Given the description of an element on the screen output the (x, y) to click on. 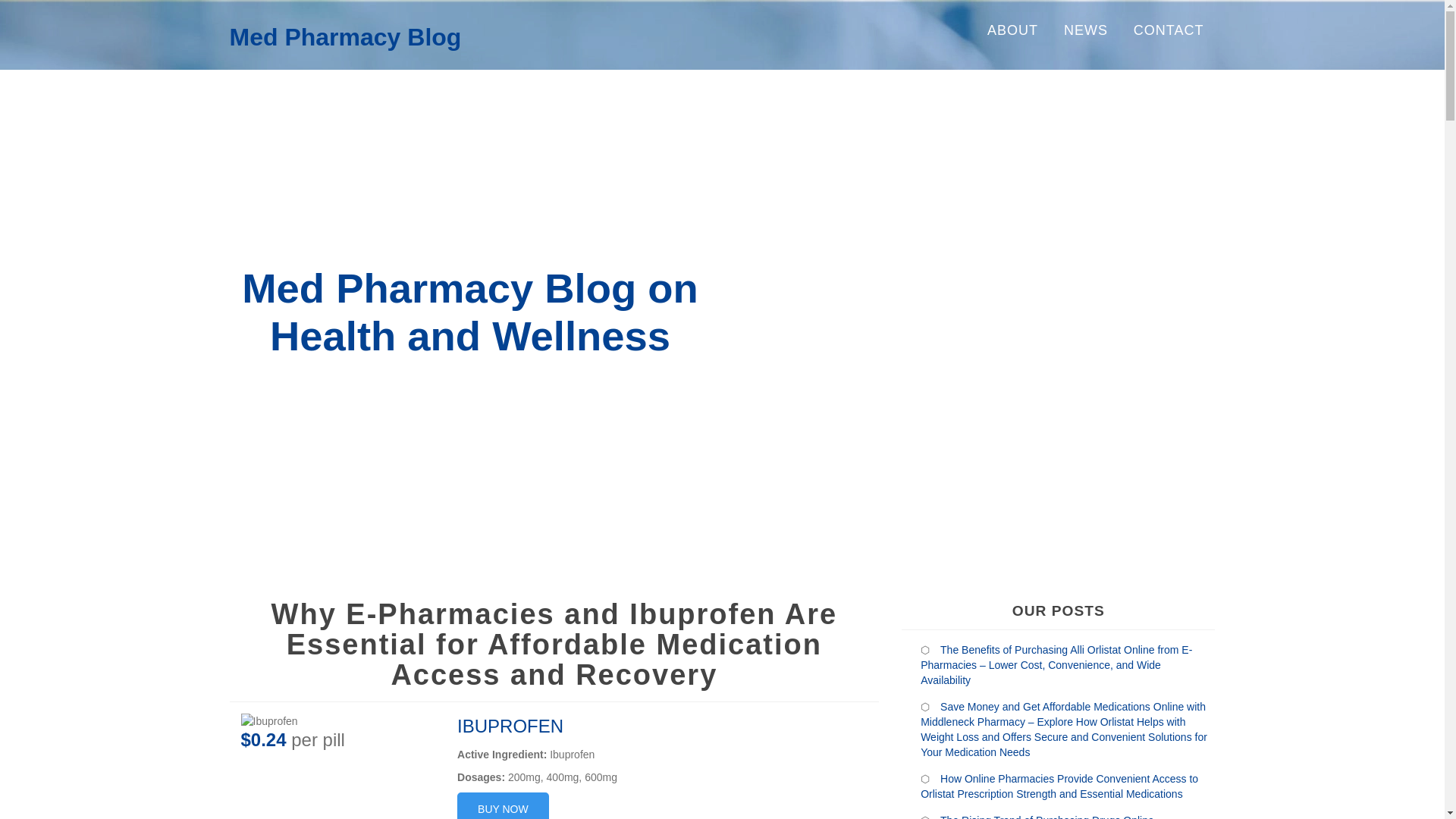
CONTACT (1168, 30)
Med Pharmacy Blog (344, 36)
BUY NOW (502, 805)
ABOUT (1012, 30)
NEWS (1085, 30)
Everything You Need To Know About Health and Wellness (344, 36)
